Given the description of an element on the screen output the (x, y) to click on. 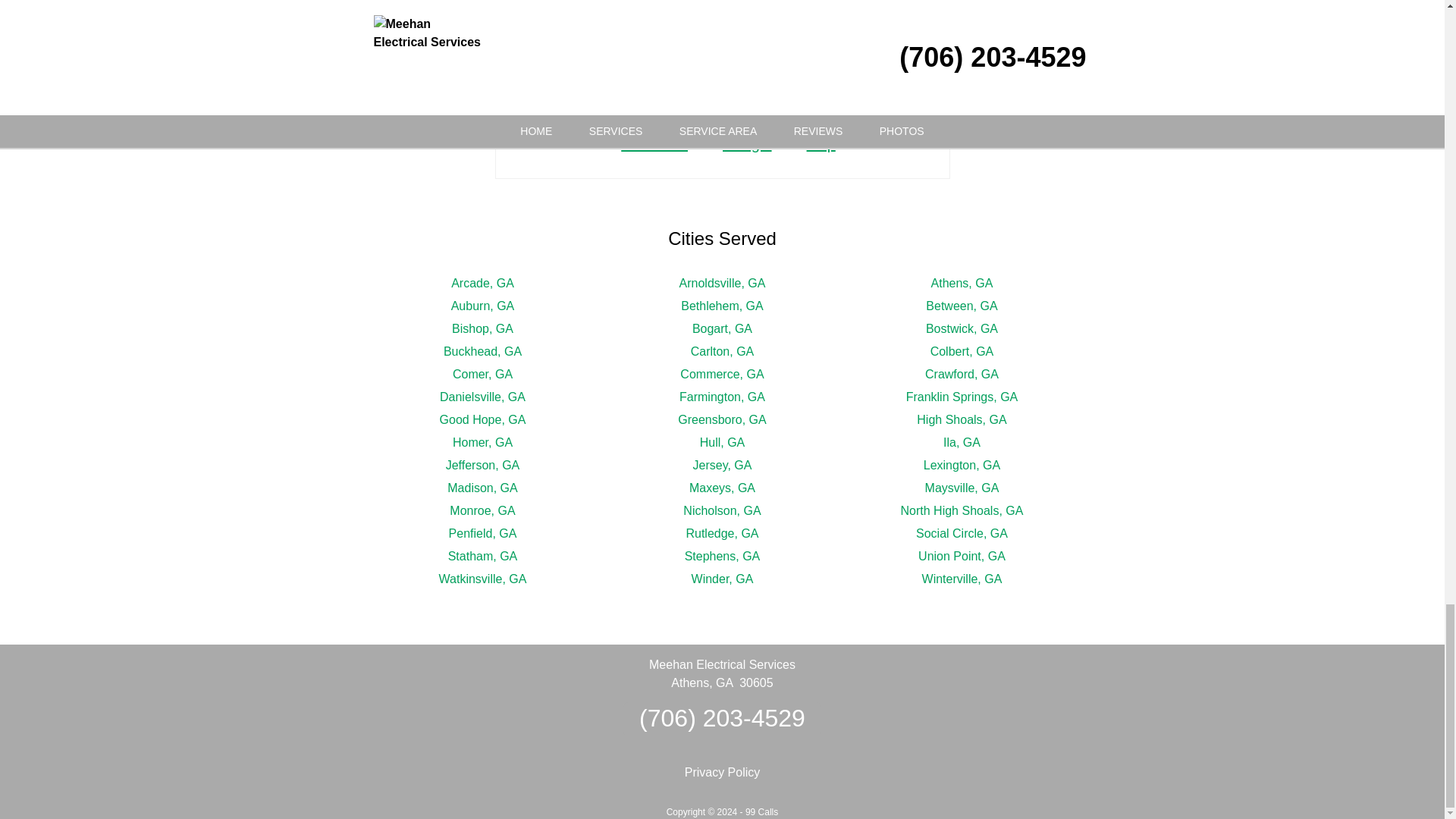
Arnoldsville, GA (722, 282)
Google (740, 143)
Auburn, GA (483, 305)
Facebook (647, 143)
Arcade, GA (482, 282)
Yelp (815, 143)
Athens, GA (961, 282)
Bethlehem, GA (721, 305)
